Given the description of an element on the screen output the (x, y) to click on. 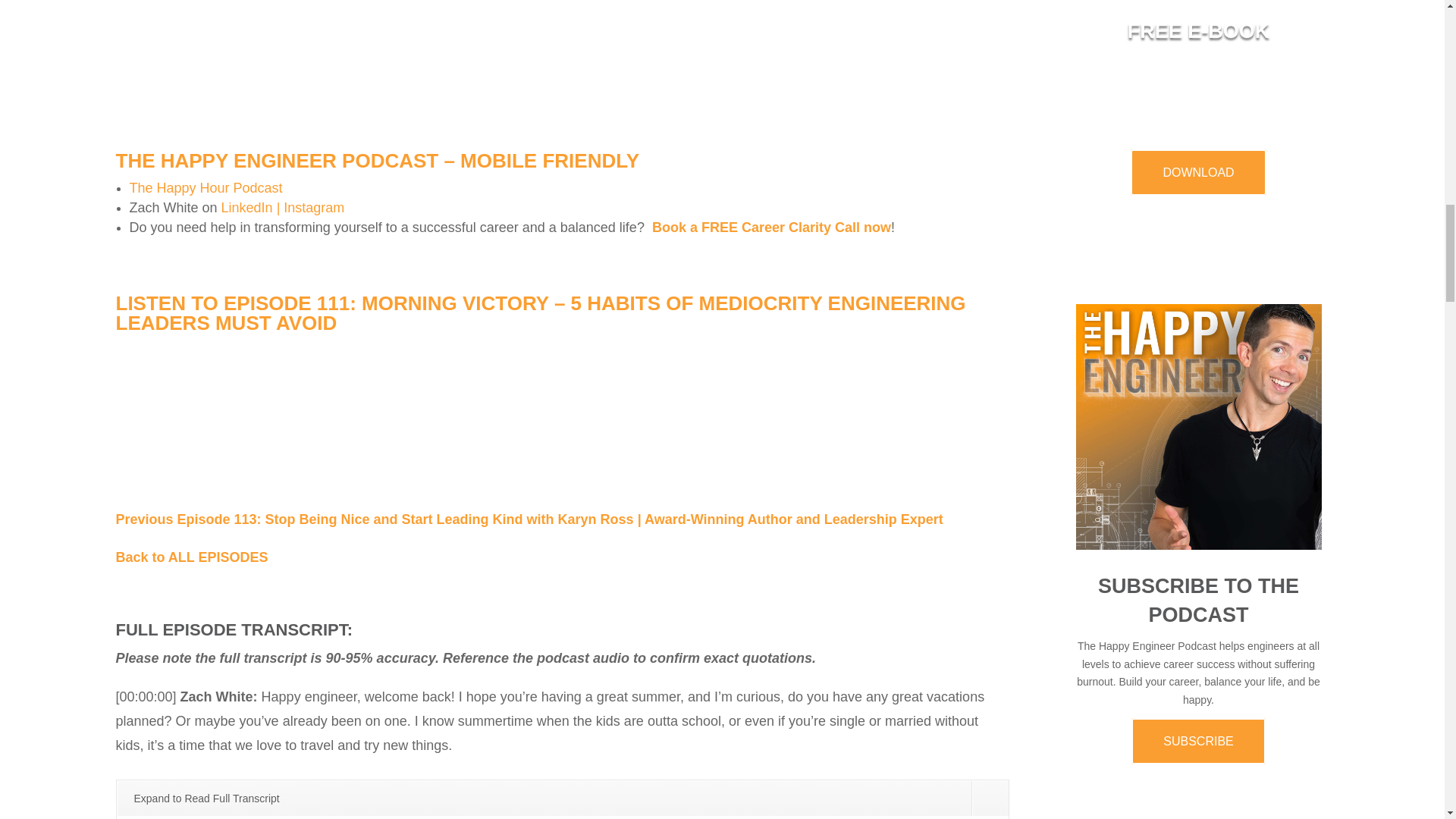
DOWNLOAD (1198, 172)
Instagram (313, 207)
SUBSCRIBE TO THE PODCAST (1197, 600)
The Happy Hour Podcast (205, 187)
Book a FREE Career Clarity Call now (771, 227)
Back to ALL EPISODES (191, 557)
Embed Player (562, 413)
LinkedIn (247, 207)
SUBSCRIBE (1198, 741)
